Given the description of an element on the screen output the (x, y) to click on. 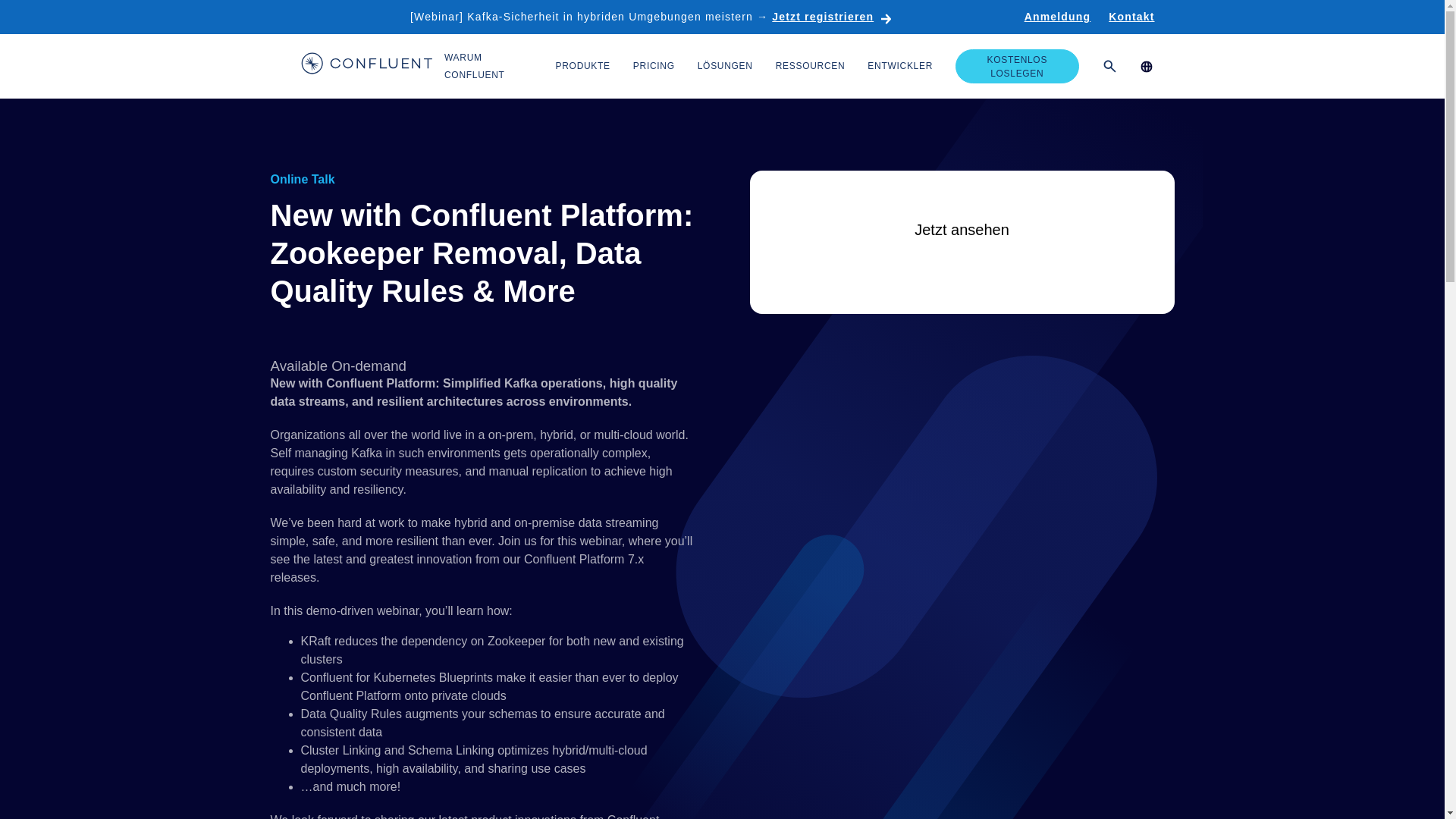
Kontakt (1131, 16)
Confluent (365, 65)
Anmeldung (1057, 16)
Jetzt registrieren (831, 16)
